Given the description of an element on the screen output the (x, y) to click on. 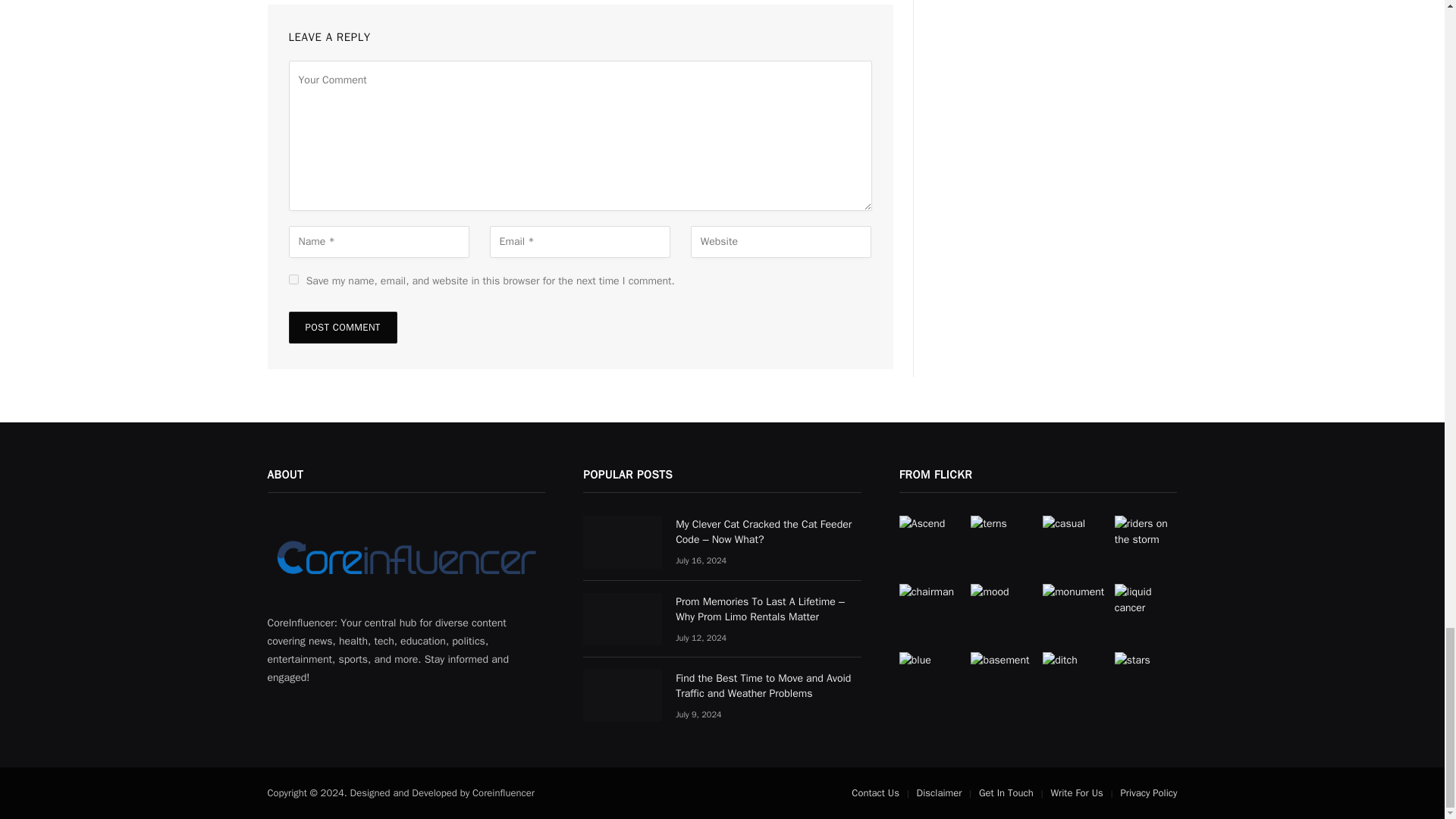
yes (293, 279)
Post Comment (342, 327)
